Given the description of an element on the screen output the (x, y) to click on. 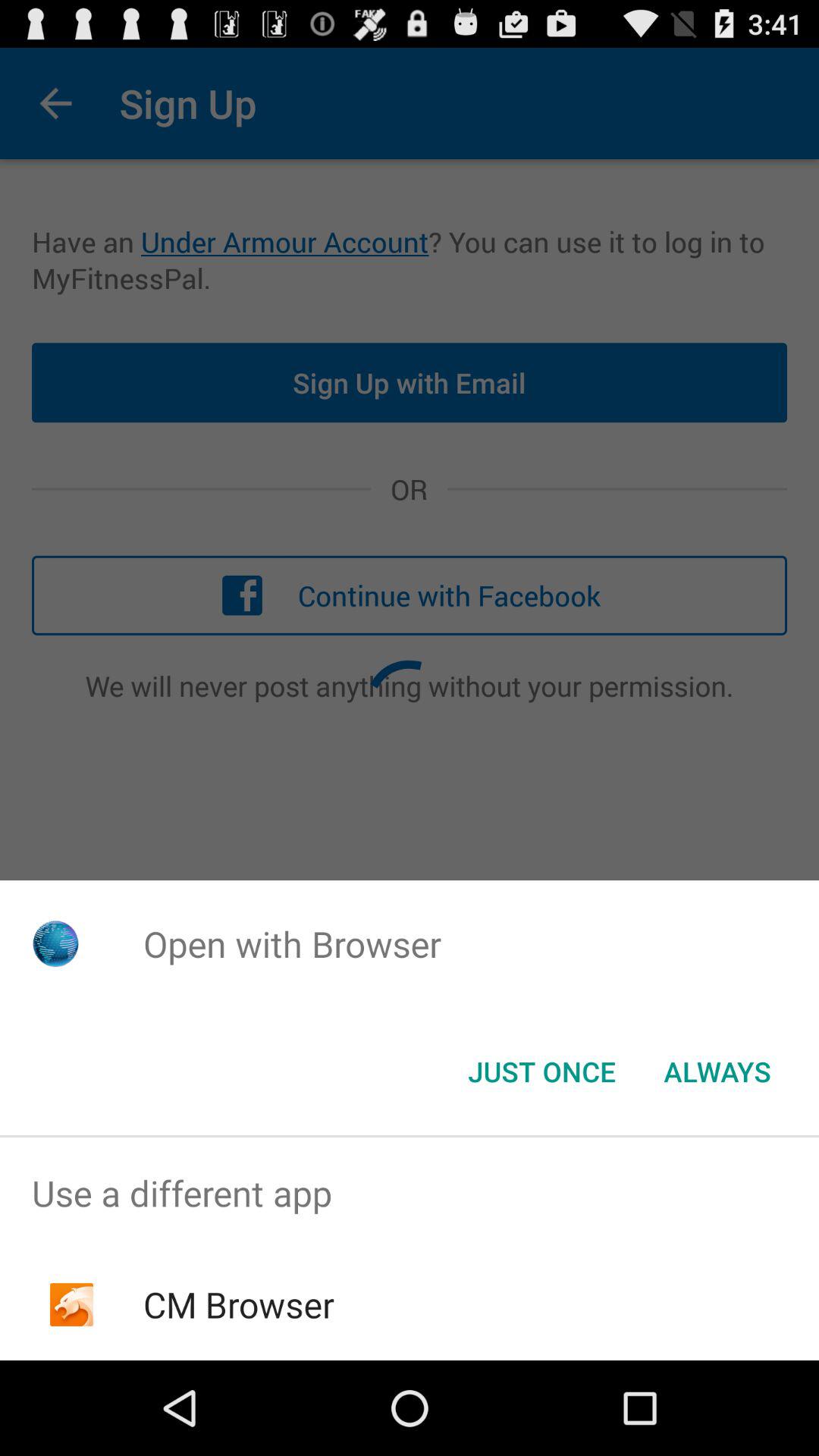
launch button next to the just once (717, 1071)
